Given the description of an element on the screen output the (x, y) to click on. 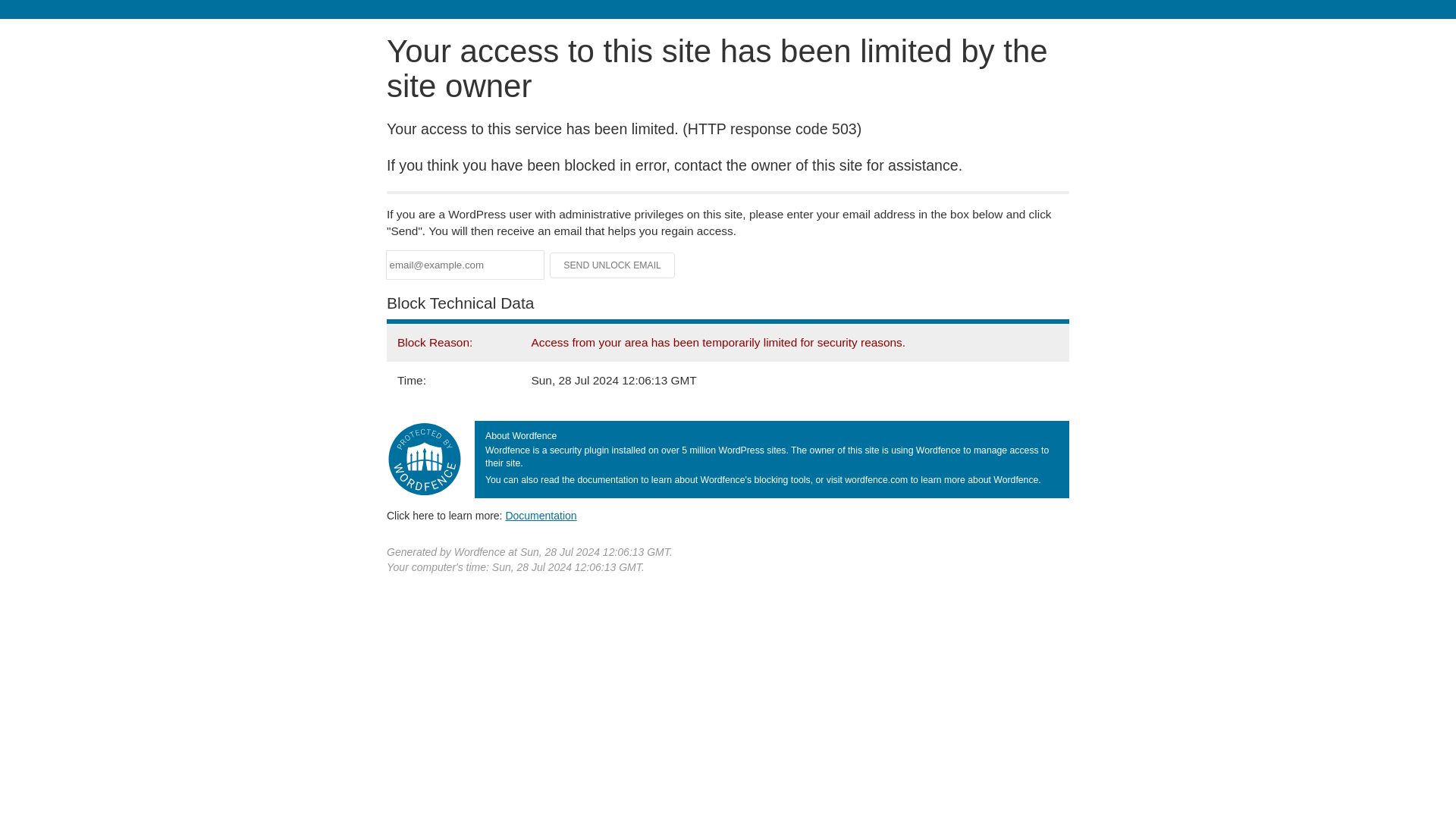
Documentation (540, 515)
Send Unlock Email (612, 265)
Send Unlock Email (612, 265)
